Given the description of an element on the screen output the (x, y) to click on. 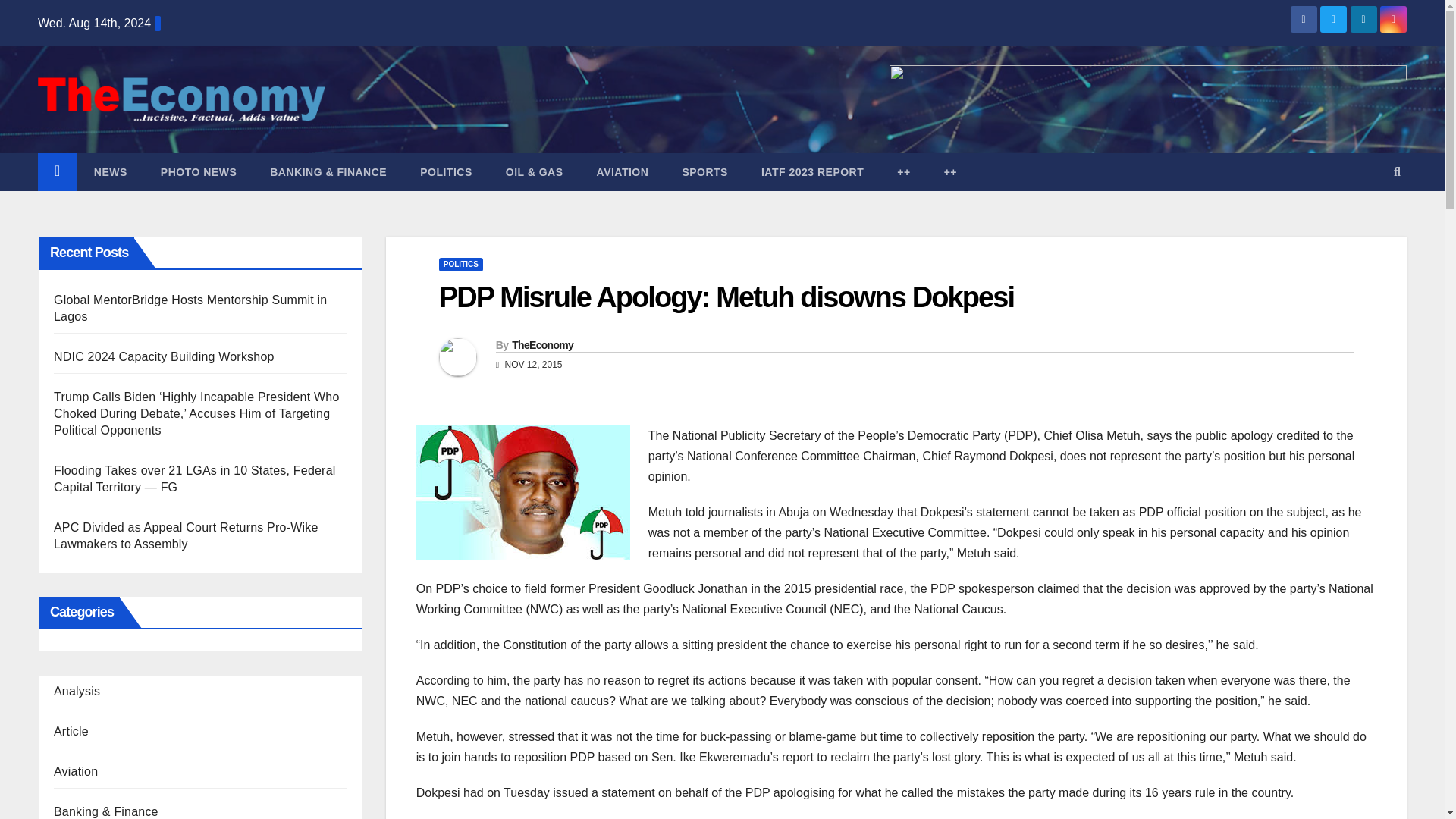
News (110, 171)
IATF 2023 REPORT (812, 171)
NEWS (110, 171)
POLITICS (446, 171)
AVIATION (622, 171)
Photo News (198, 171)
PHOTO NEWS (198, 171)
IATF 2023 REPORT (812, 171)
SPORTS (704, 171)
Sports (704, 171)
